Given the description of an element on the screen output the (x, y) to click on. 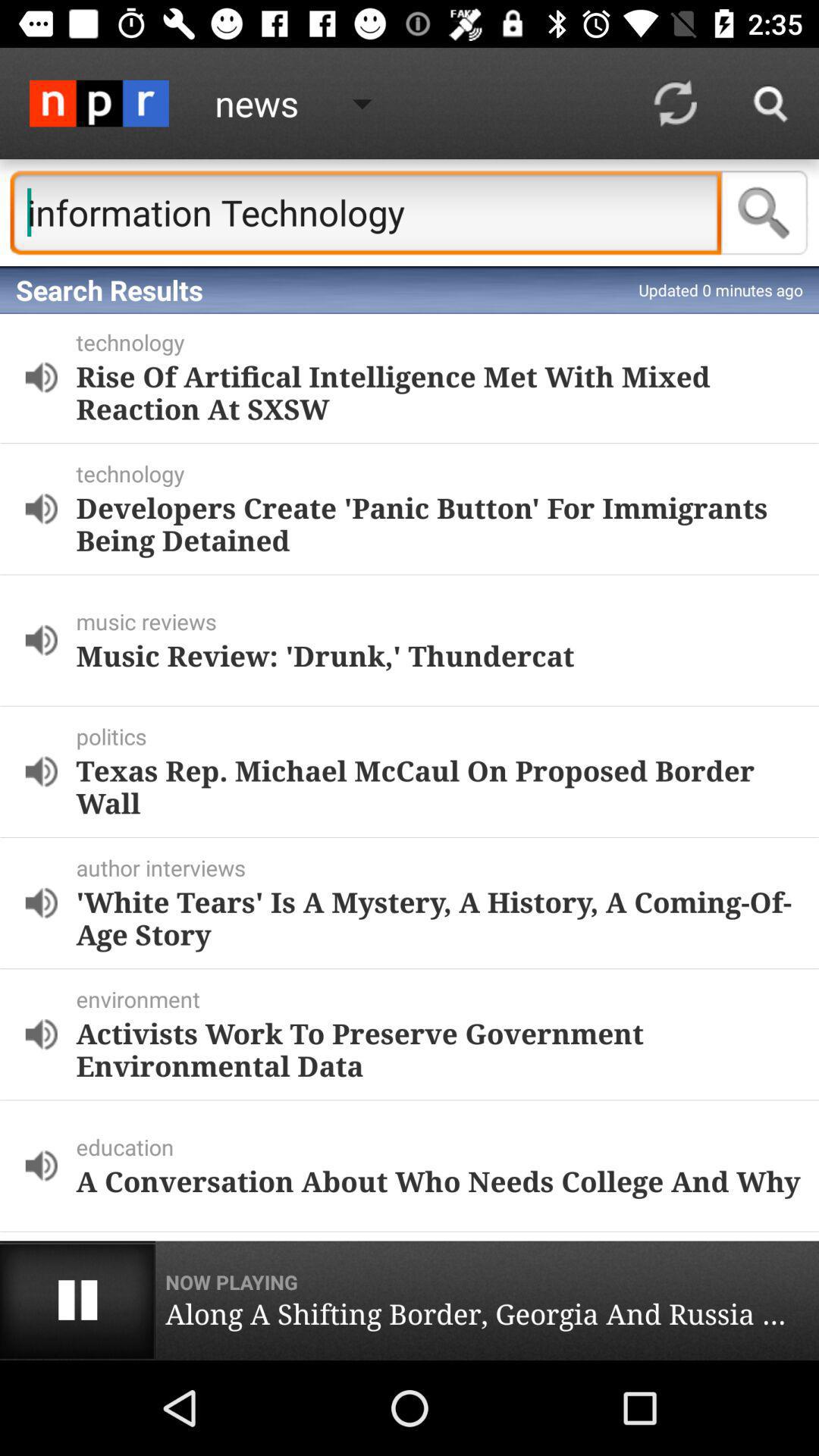
jump until developers create panic item (438, 523)
